Given the description of an element on the screen output the (x, y) to click on. 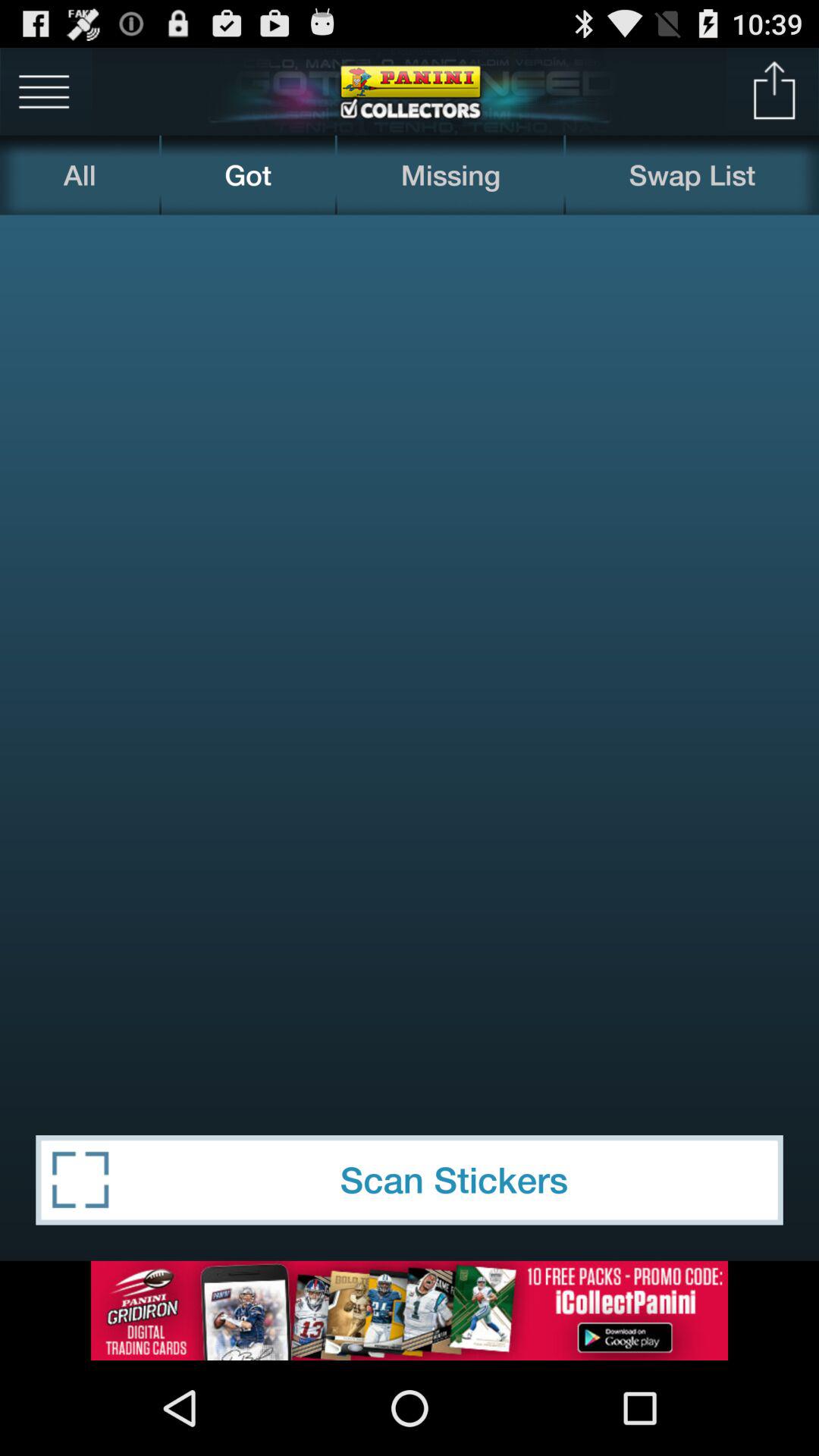
list of contents (43, 91)
